Given the description of an element on the screen output the (x, y) to click on. 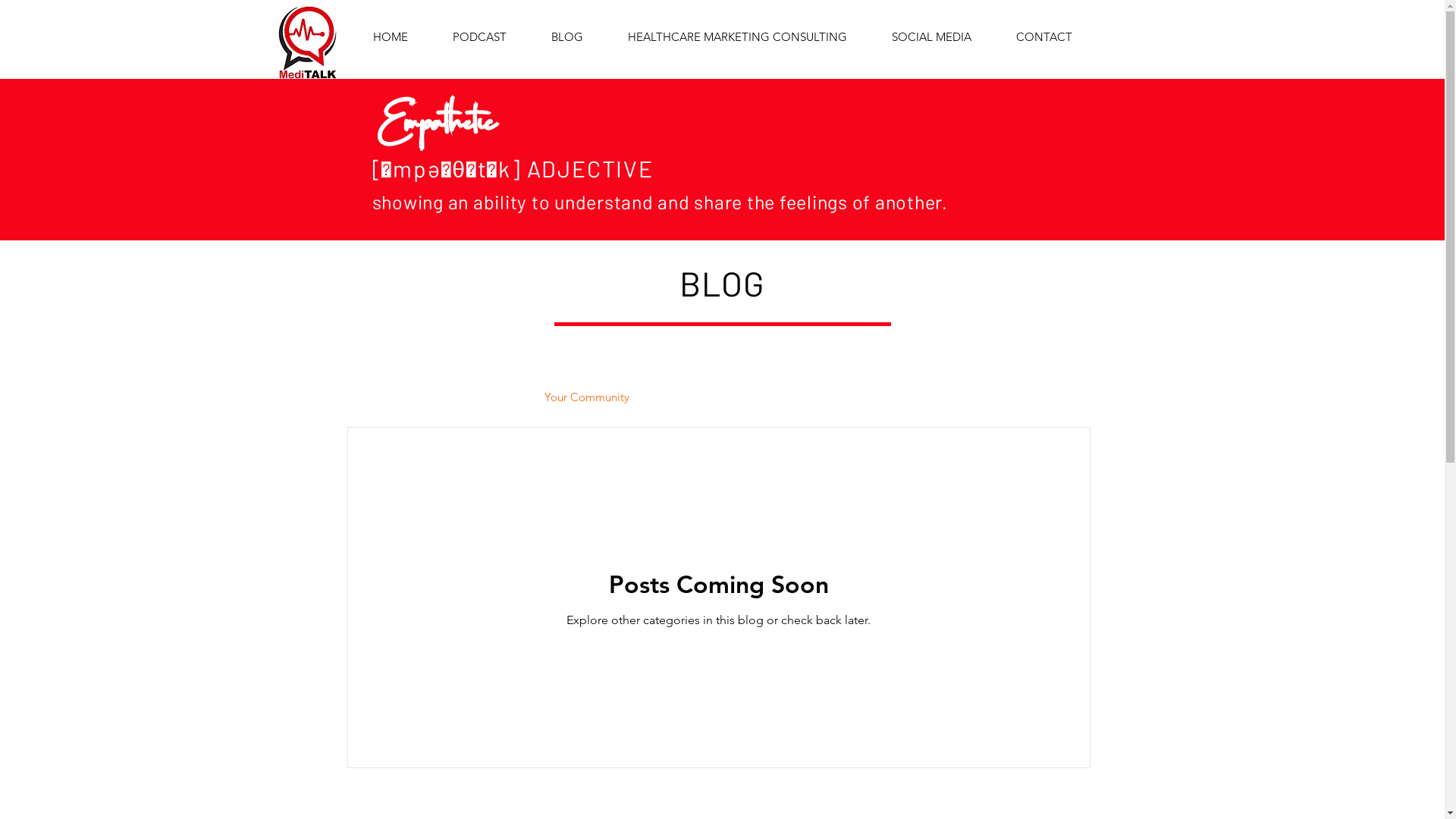
PODCAST Element type: text (479, 37)
CONTACT Element type: text (1043, 37)
Getting Started Element type: text (474, 396)
Log in / Sign up Element type: text (1017, 396)
HOME Element type: text (389, 37)
Empathetic Element type: text (435, 109)
SOCIAL MEDIA Element type: text (931, 37)
HEALTHCARE MARKETING CONSULTING Element type: text (737, 37)
Your Community Element type: text (586, 396)
All Posts Element type: text (383, 396)
BLOG Element type: text (567, 37)
